Given the description of an element on the screen output the (x, y) to click on. 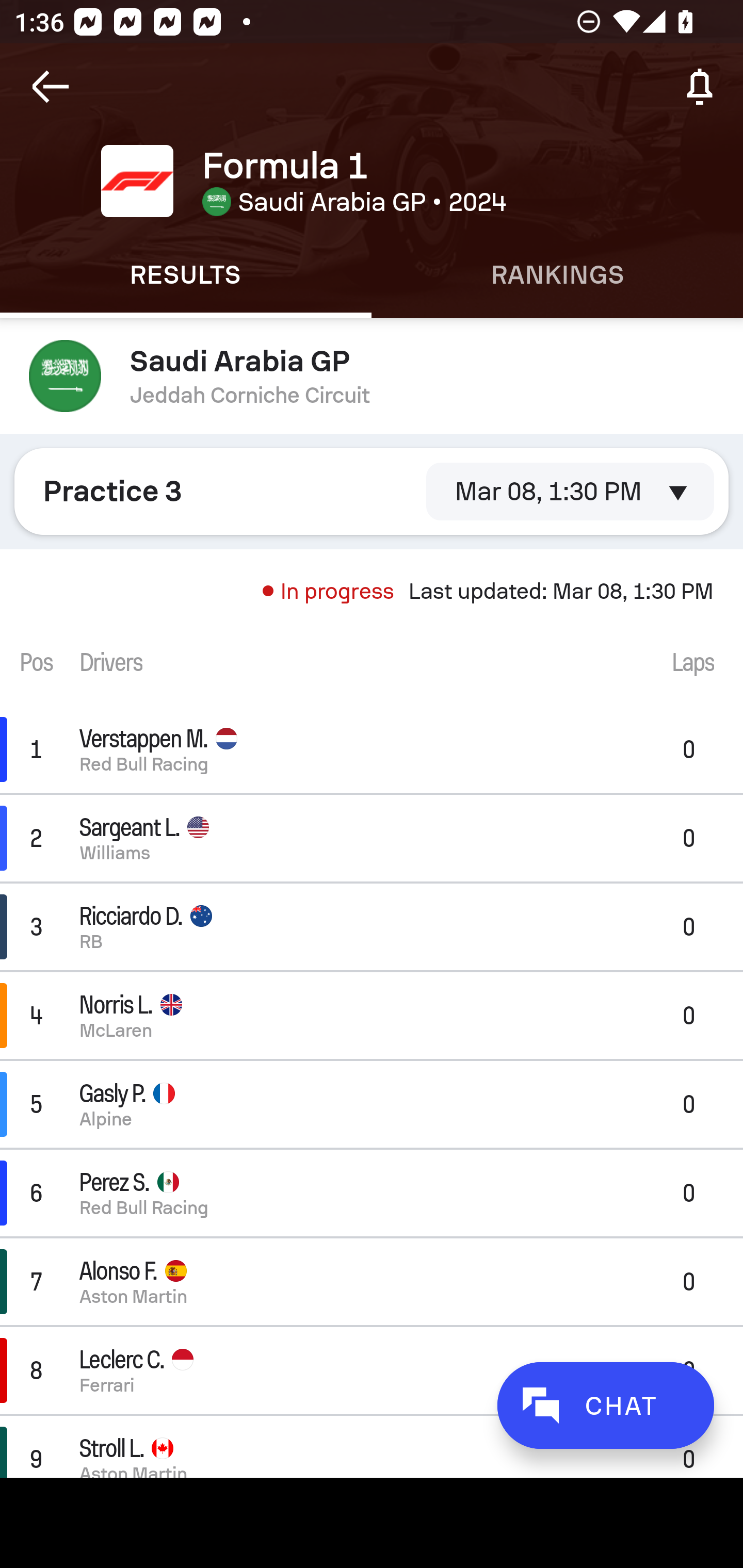
Navigate up (50, 86)
Rankings RANKINGS (557, 275)
Practice 3 Mar 08, 1:30 PM (371, 491)
Mar 08, 1:30 PM (570, 491)
1 Verstappen M. Red Bull Racing 0 (371, 749)
2 Sargeant L. Williams 0 (371, 837)
3 Ricciardo D. RB 0 (371, 926)
4 Norris L. McLaren 0 (371, 1015)
5 Gasly P. Alpine 0 (371, 1104)
6 Perez S. Red Bull Racing 0 (371, 1192)
7 Alonso F. Aston Martin 0 (371, 1281)
CHAT (605, 1405)
